Given the description of an element on the screen output the (x, y) to click on. 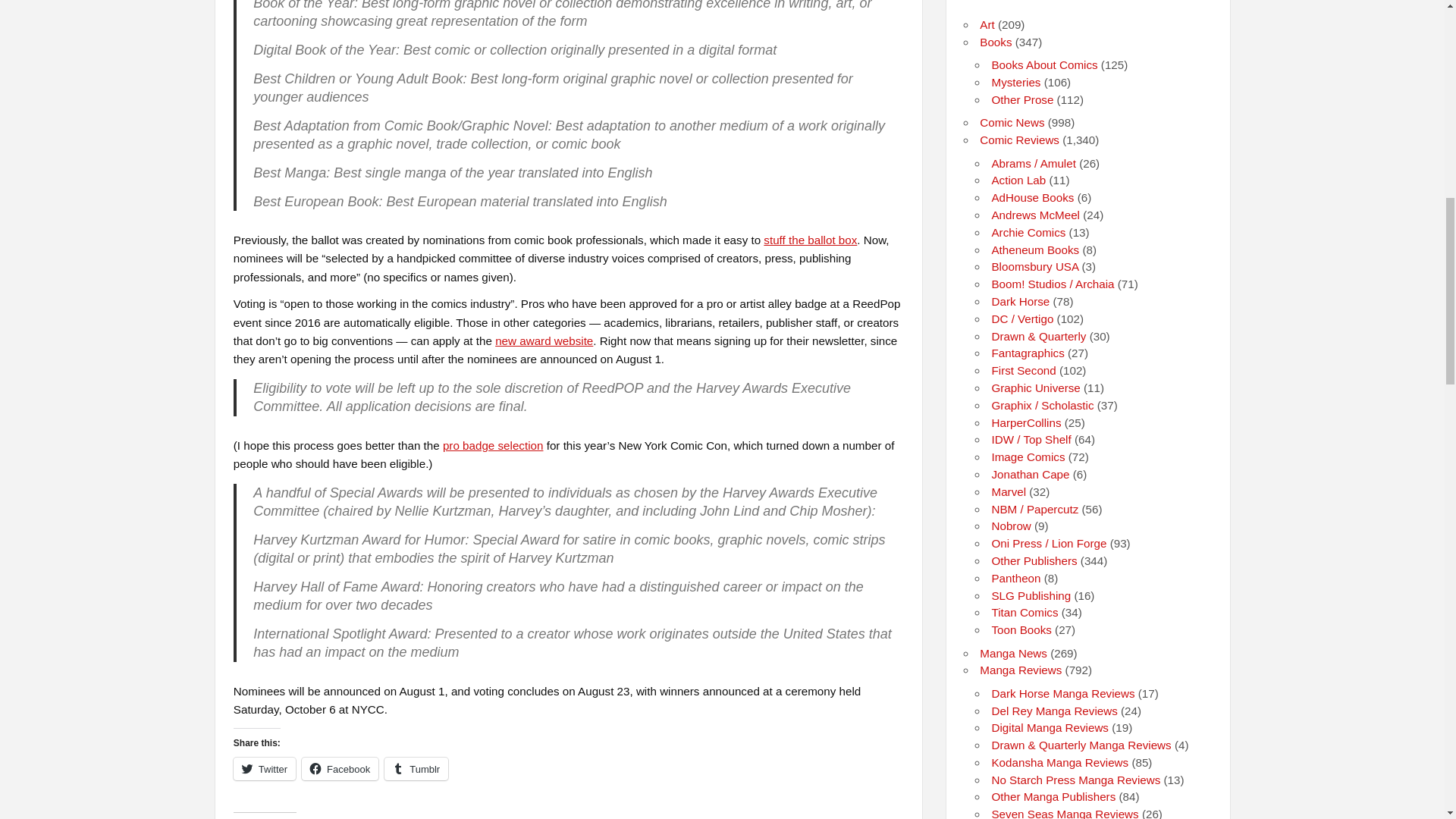
stuff the ballot box (809, 239)
Click to share on Facebook (339, 768)
new award website (543, 340)
pro badge selection (492, 445)
Tumblr (416, 768)
Facebook (339, 768)
Click to share on Tumblr (416, 768)
Twitter (263, 768)
Click to share on Twitter (263, 768)
